Given the description of an element on the screen output the (x, y) to click on. 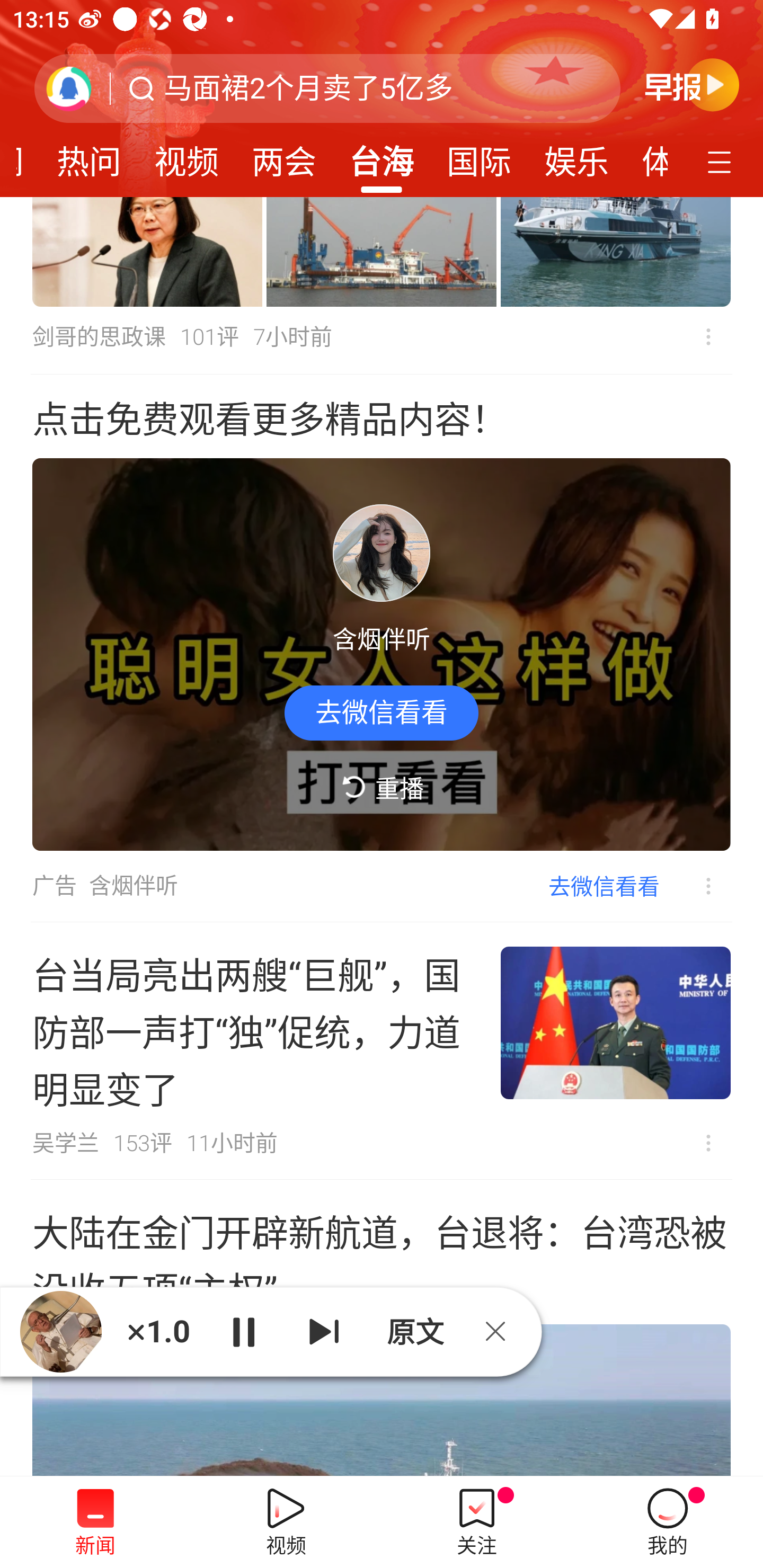
早晚报 (691, 84)
刷新 (68, 88)
马面裙2个月卖了5亿多 (308, 88)
热问 (89, 155)
视频 (186, 155)
两会 (283, 155)
台海 (381, 155)
国际 (478, 155)
娱乐 (575, 155)
 定制频道 (721, 160)
图片 图片 图片 剑哥的思政课 101评 7小时前  不感兴趣 (381, 285)
 不感兴趣 (707, 337)
点击免费观看更多精品内容！ 含烟伴听 去微信看看 重播 广告 含烟伴听 去微信看看  不感兴趣 (381, 647)
含烟伴听 去微信看看 重播 (381, 654)
去微信看看 (381, 712)
重播 (381, 787)
 不感兴趣 (694, 886)
去微信看看 (603, 885)
广告 (54, 885)
含烟伴听 (133, 885)
 不感兴趣 (707, 1143)
大陆在金门开辟新航道，台退将：台湾恐被没收五项“主权” (381, 1328)
播放器 (60, 1331)
 播放 (242, 1330)
 下一个 (323, 1330)
 关闭 (501, 1330)
原文 (413, 1331)
 1.0 (157, 1330)
